Given the description of an element on the screen output the (x, y) to click on. 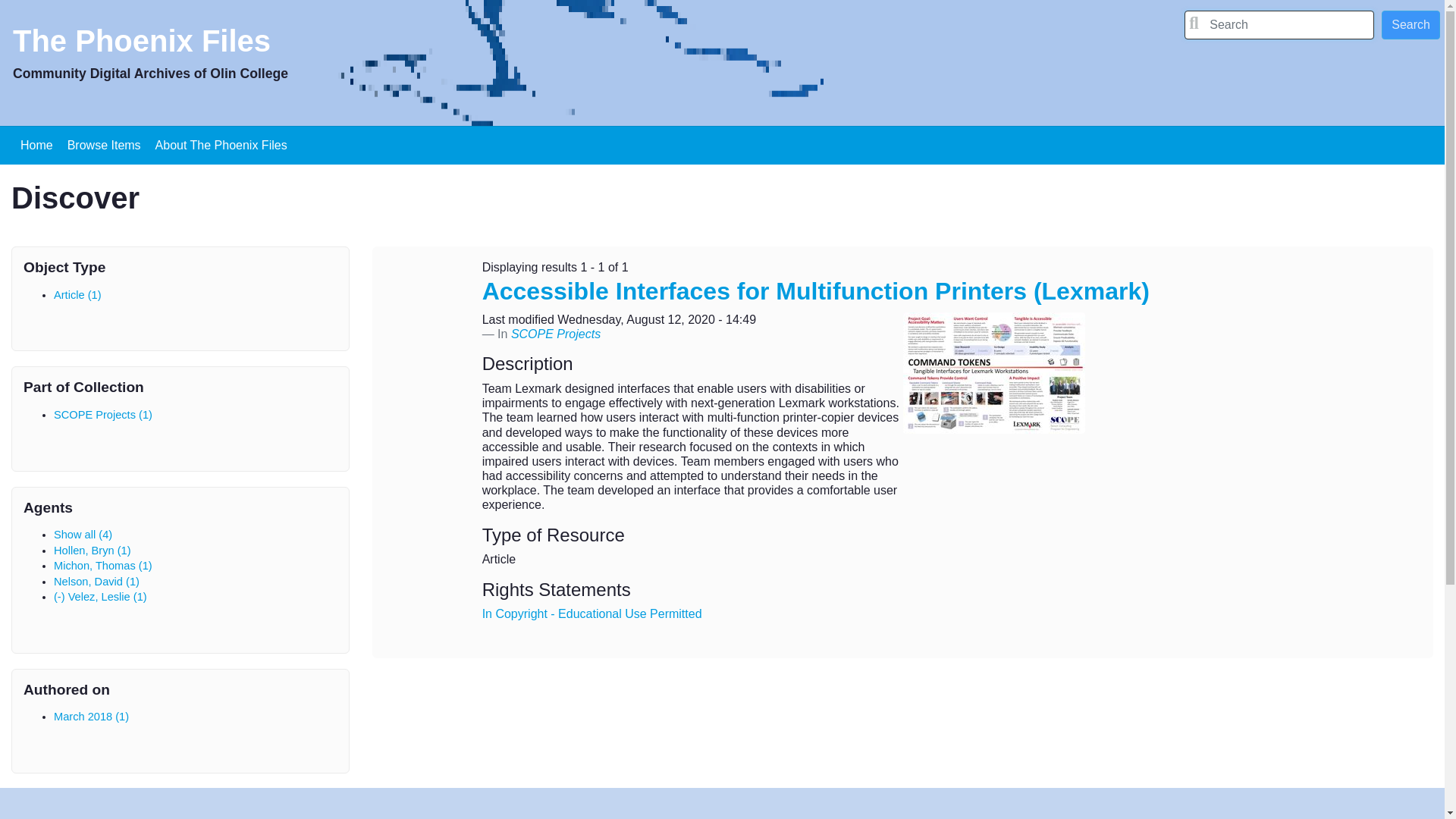
See all Digital Objects (104, 145)
About The Phoenix Files (221, 145)
Home (141, 47)
Browse Items (104, 145)
Home (36, 145)
SCOPE Projects (555, 333)
Search (1410, 24)
Skip to main content (721, 1)
SCOPE Projects (555, 333)
In Copyright - Educational Use Permitted (591, 613)
